Given the description of an element on the screen output the (x, y) to click on. 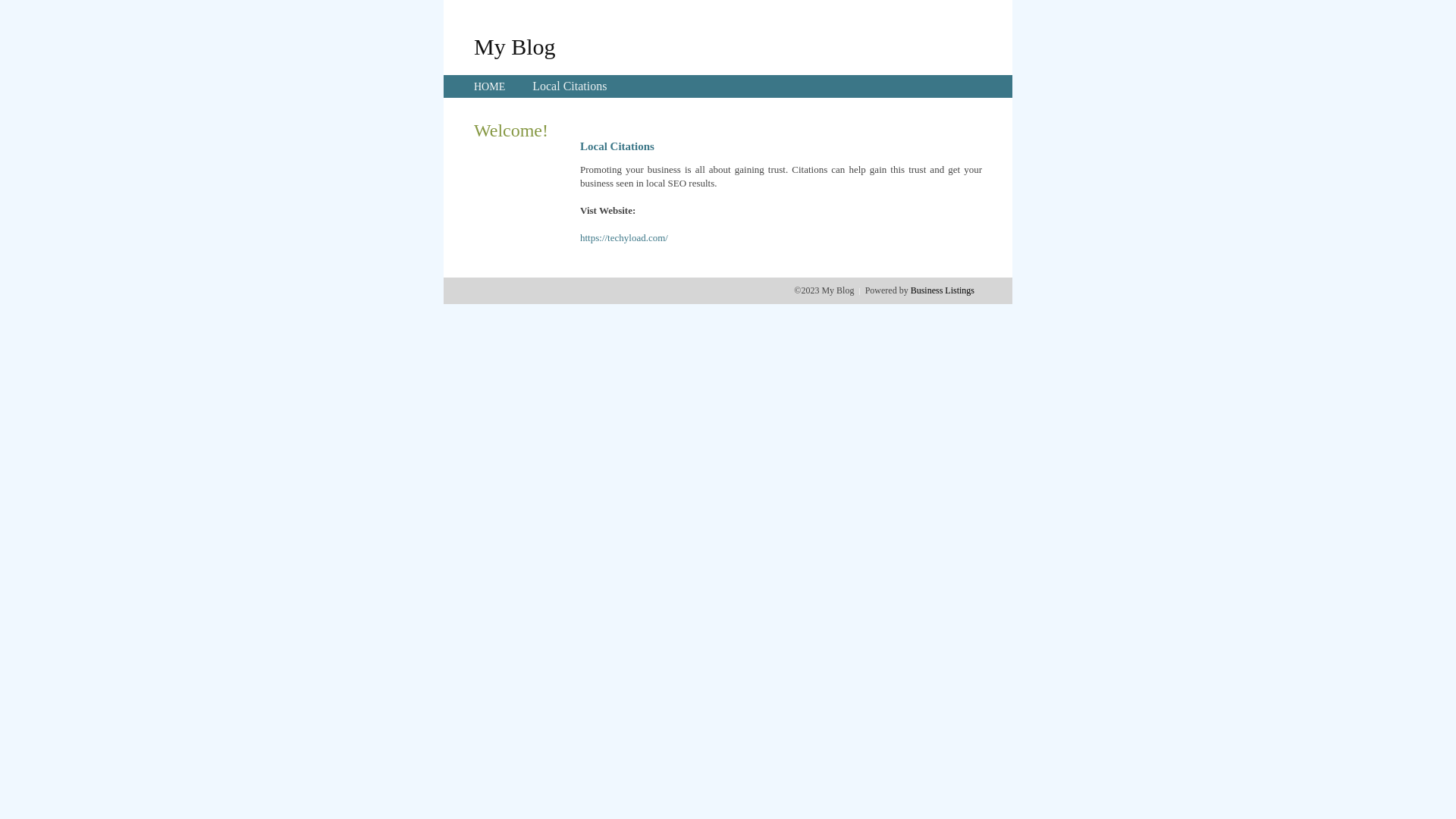
https://techyload.com/ Element type: text (624, 237)
HOME Element type: text (489, 86)
Business Listings Element type: text (942, 290)
My Blog Element type: text (514, 46)
Local Citations Element type: text (569, 85)
